Given the description of an element on the screen output the (x, y) to click on. 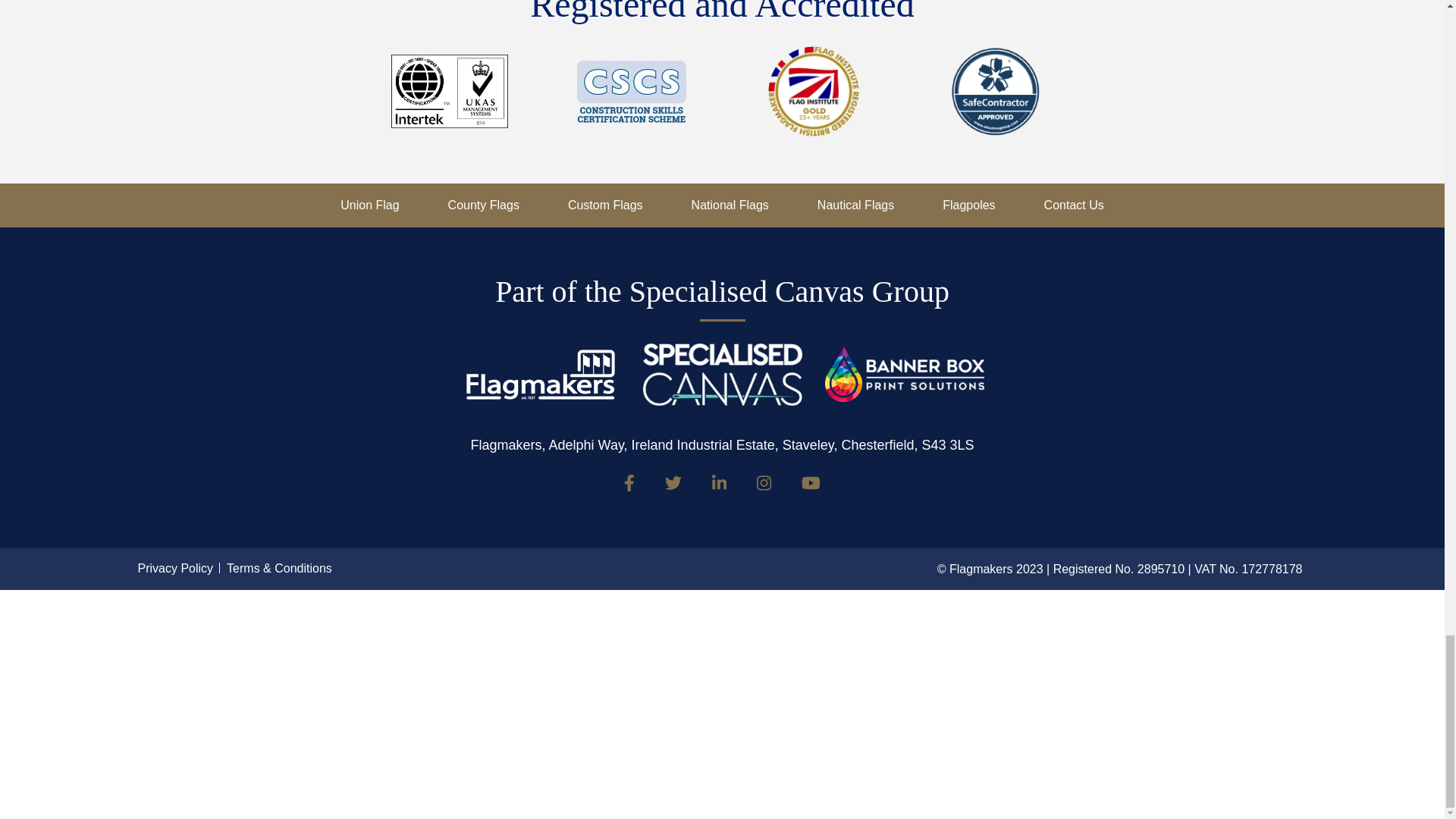
Union Flag (369, 205)
Flagpoles (968, 205)
Custom Flags (605, 205)
Nautical Flags (854, 205)
National Flags (729, 205)
Contact Us (1073, 205)
County Flags (483, 205)
